Given the description of an element on the screen output the (x, y) to click on. 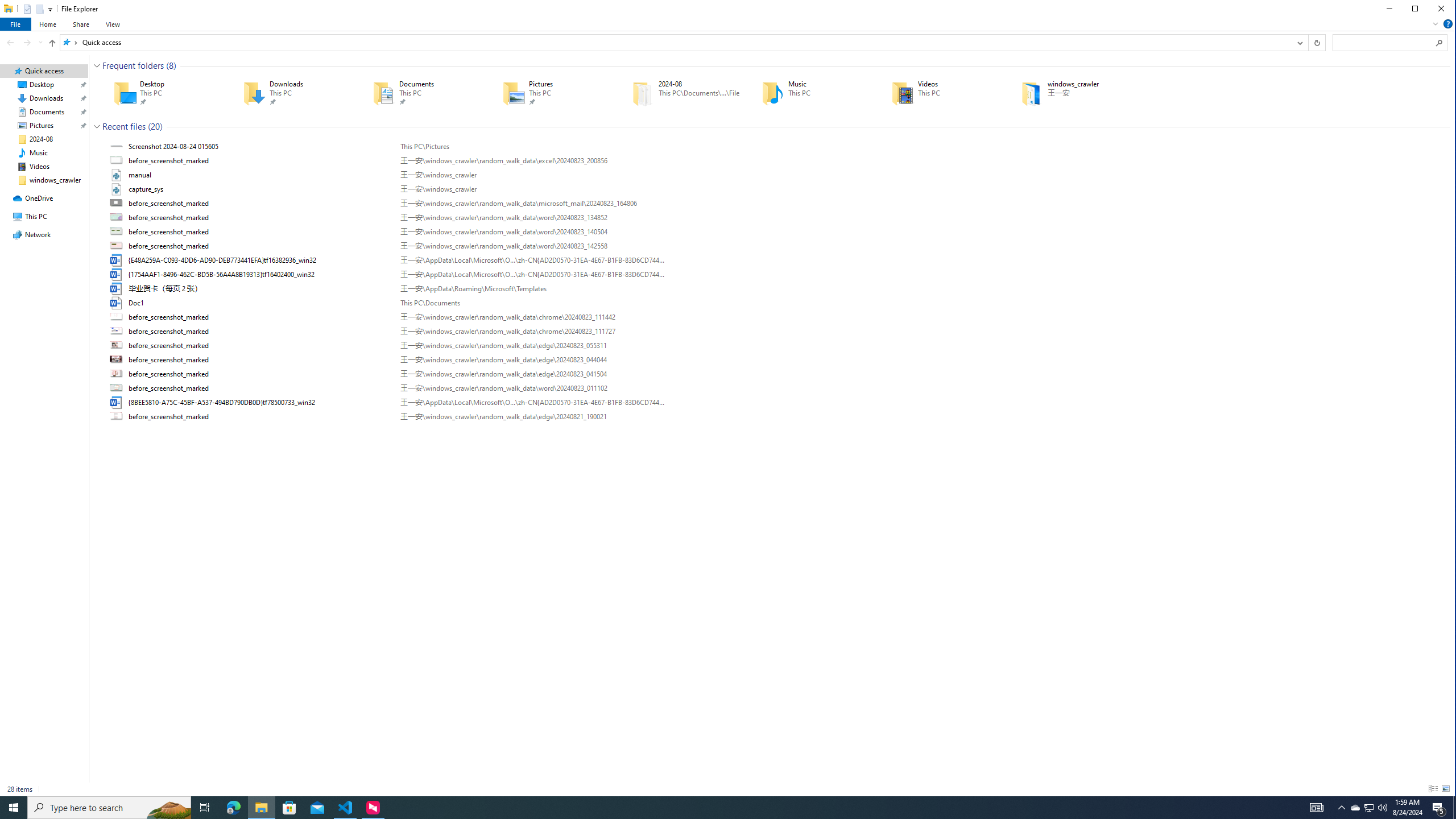
Share (81, 24)
Address band toolbar (1307, 42)
Downloads (291, 93)
Up band toolbar (52, 44)
Maximize (1415, 9)
Back (Alt + Left Arrow) (9, 42)
Desktop (162, 93)
Class: UIImage (117, 416)
capture_sys (776, 188)
Recent locations (39, 42)
Previous Locations (1299, 42)
Close (1441, 9)
manual (776, 174)
Screenshot 2024-08-24 015605 (776, 146)
Details (1432, 789)
